Given the description of an element on the screen output the (x, y) to click on. 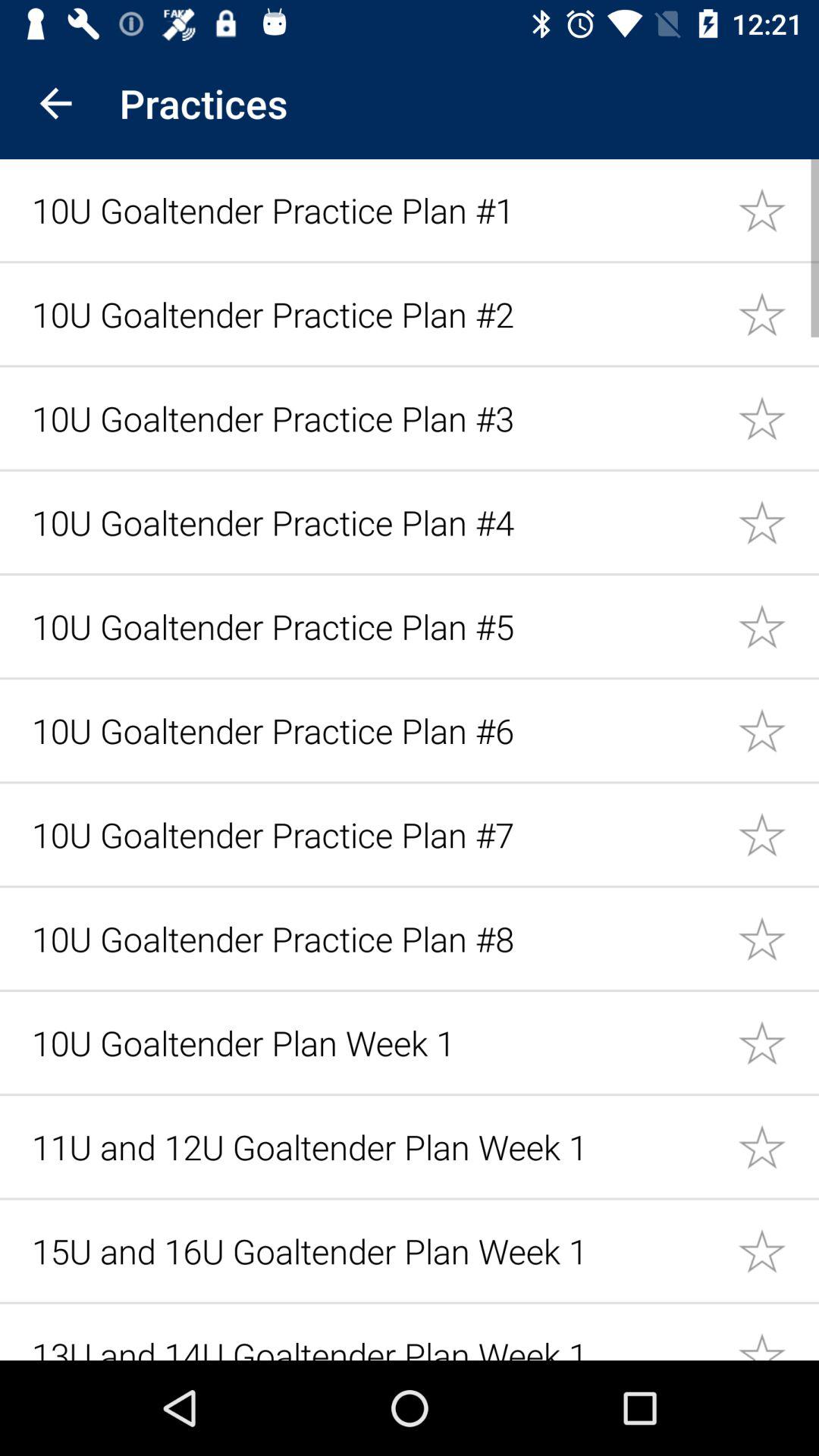
select as a favorite (778, 522)
